Given the description of an element on the screen output the (x, y) to click on. 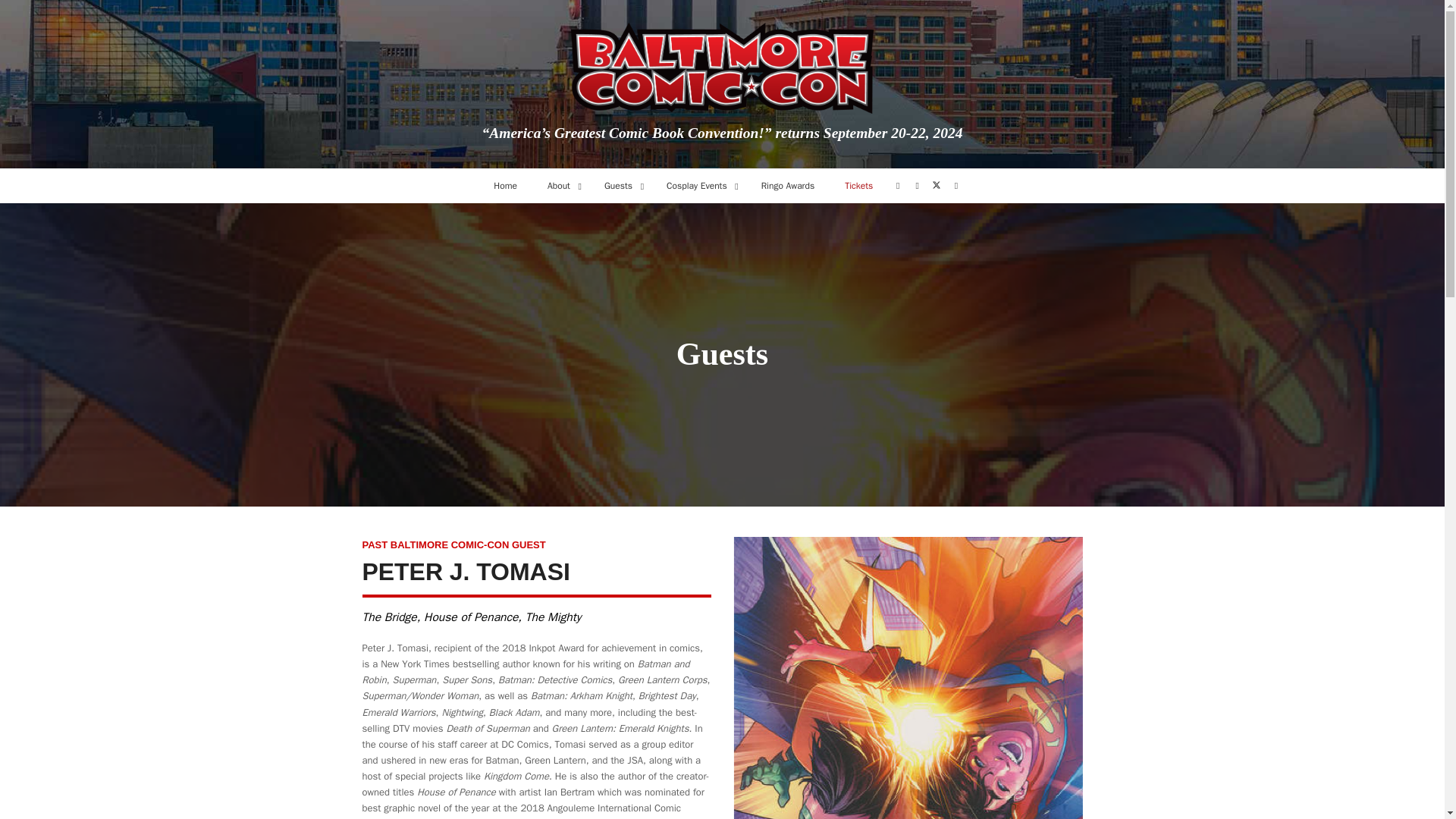
Tickets (858, 185)
Facebook (897, 186)
About (560, 185)
YouTube (956, 186)
Home (505, 185)
Cosplay Events (697, 185)
X Twitter (937, 184)
Guests (619, 185)
Ringo Awards (787, 185)
Instagram (917, 186)
